Given the description of an element on the screen output the (x, y) to click on. 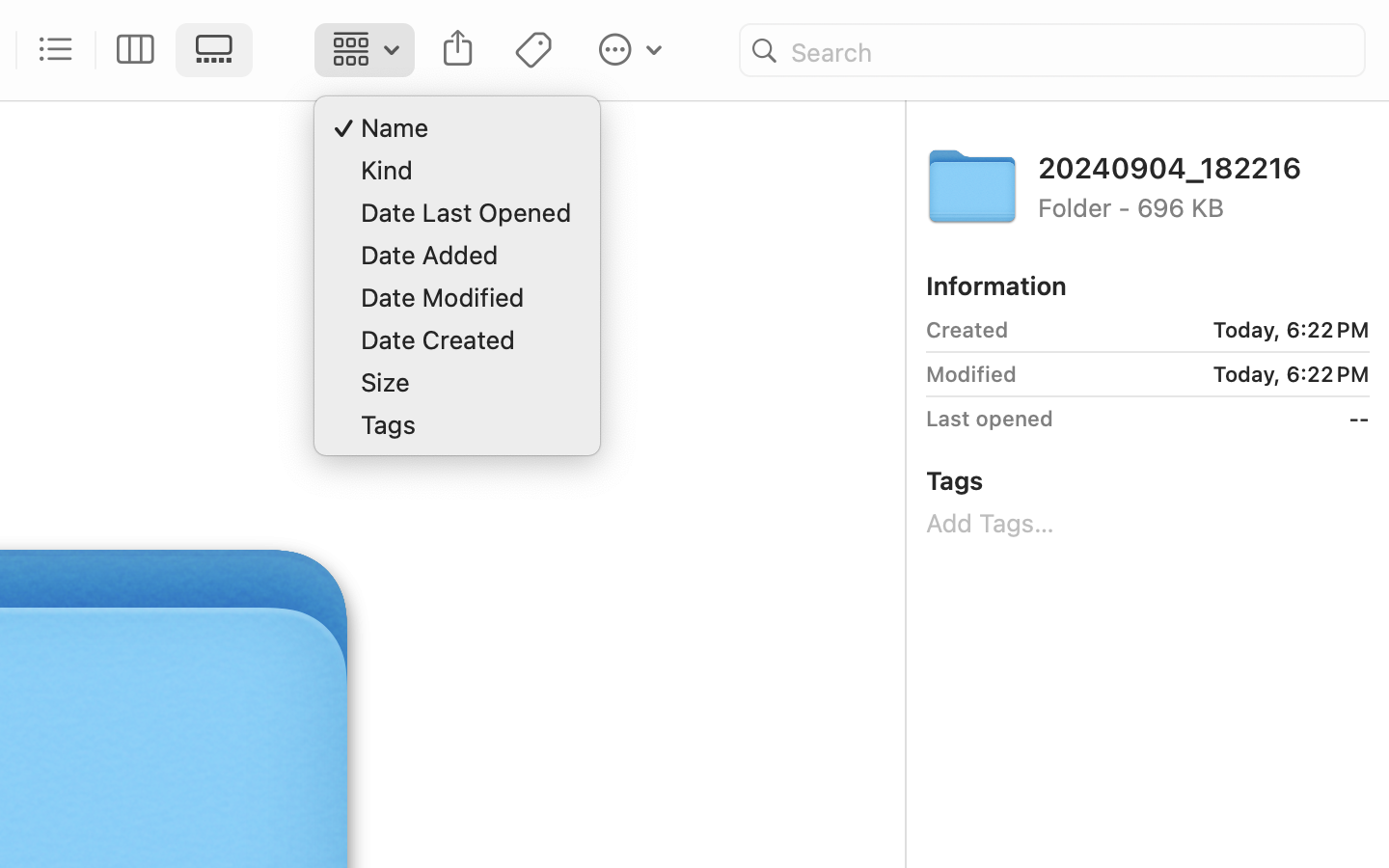
Today, 6:22 PM Element type: AXStaticText (1196, 329)
Modified Element type: AXStaticText (971, 373)
Folder - 696 KB Element type: AXStaticText (1203, 205)
0 Element type: AXRadioButton (135, 49)
-- Element type: AXStaticText (1217, 418)
